Given the description of an element on the screen output the (x, y) to click on. 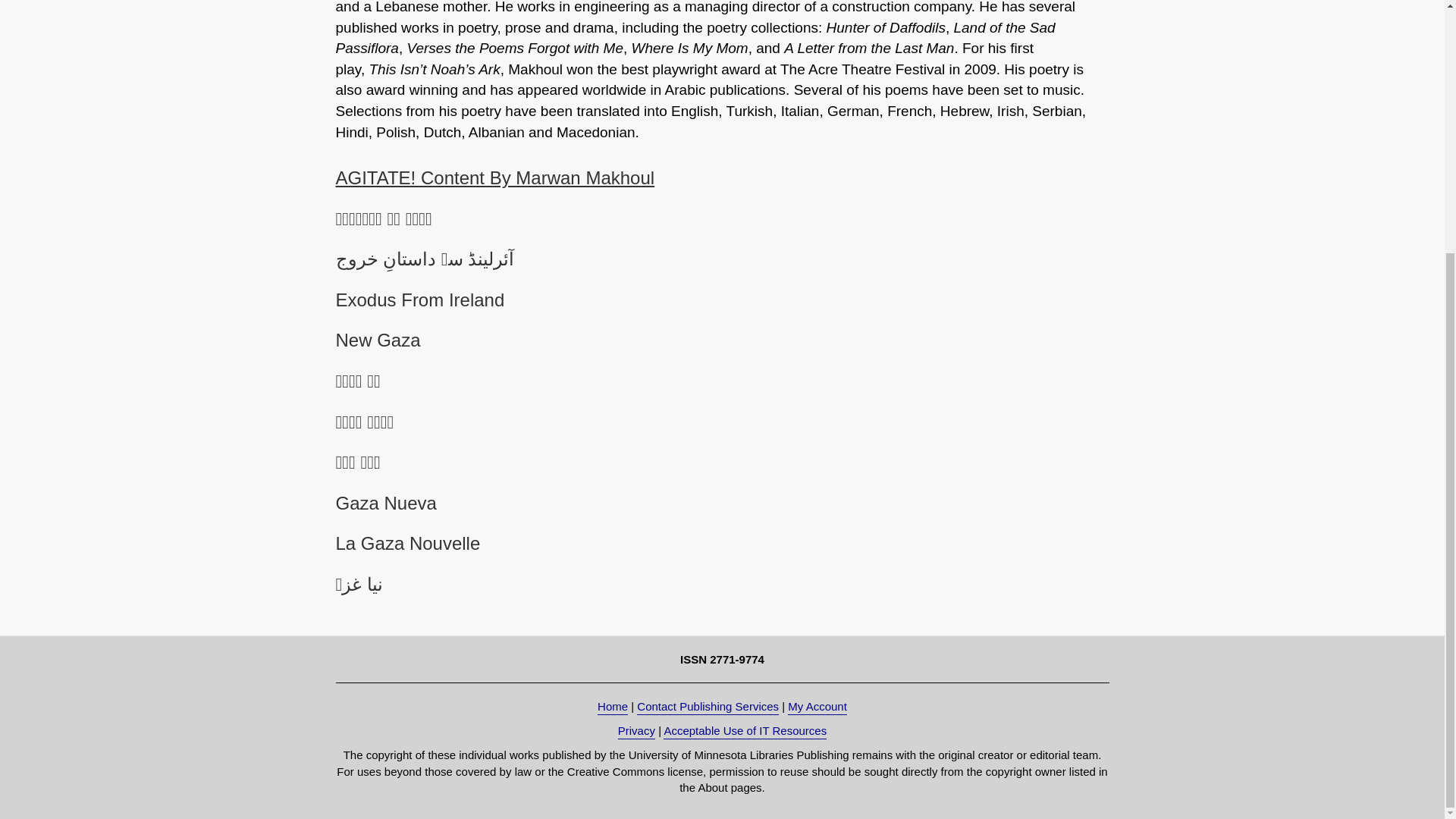
New Gaza (377, 340)
Privacy (636, 731)
Gaza Nueva (384, 503)
La Gaza Nouvelle (407, 543)
Contact Publishing Services (707, 707)
Acceptable Use of IT Resources (745, 731)
Exodus From Ireland (418, 299)
Home (611, 707)
My Account (817, 707)
